Given the description of an element on the screen output the (x, y) to click on. 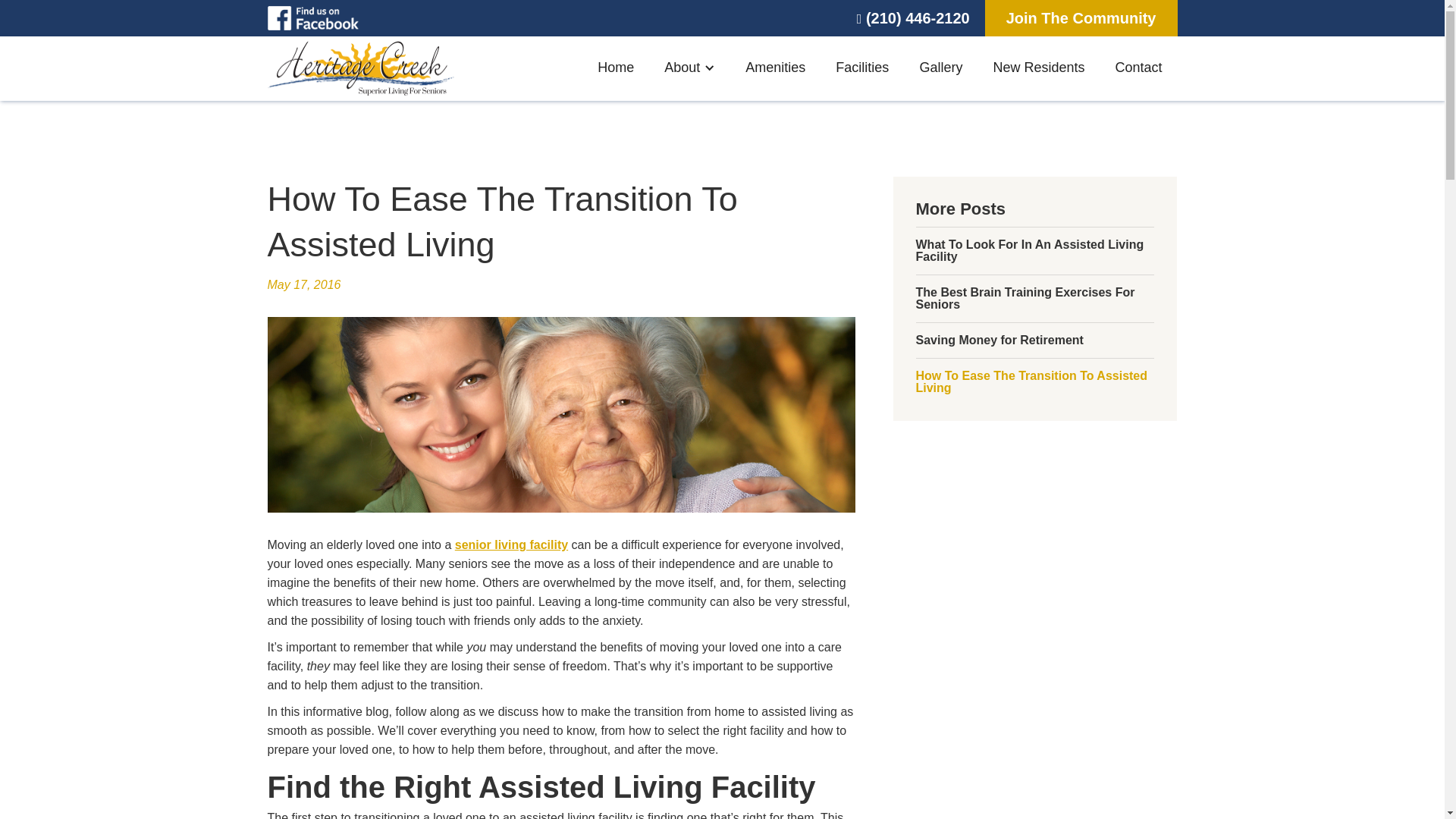
The Best Brain Training Exercises For Seniors (1034, 298)
Amenities (775, 68)
Home (615, 68)
New Residents (1037, 68)
senior living facility (510, 544)
Contact (1137, 68)
Gallery (940, 68)
Join The Community (1081, 18)
Saving Money for Retirement (999, 340)
How To Ease The Transition To Assisted Living (1034, 381)
